Given the description of an element on the screen output the (x, y) to click on. 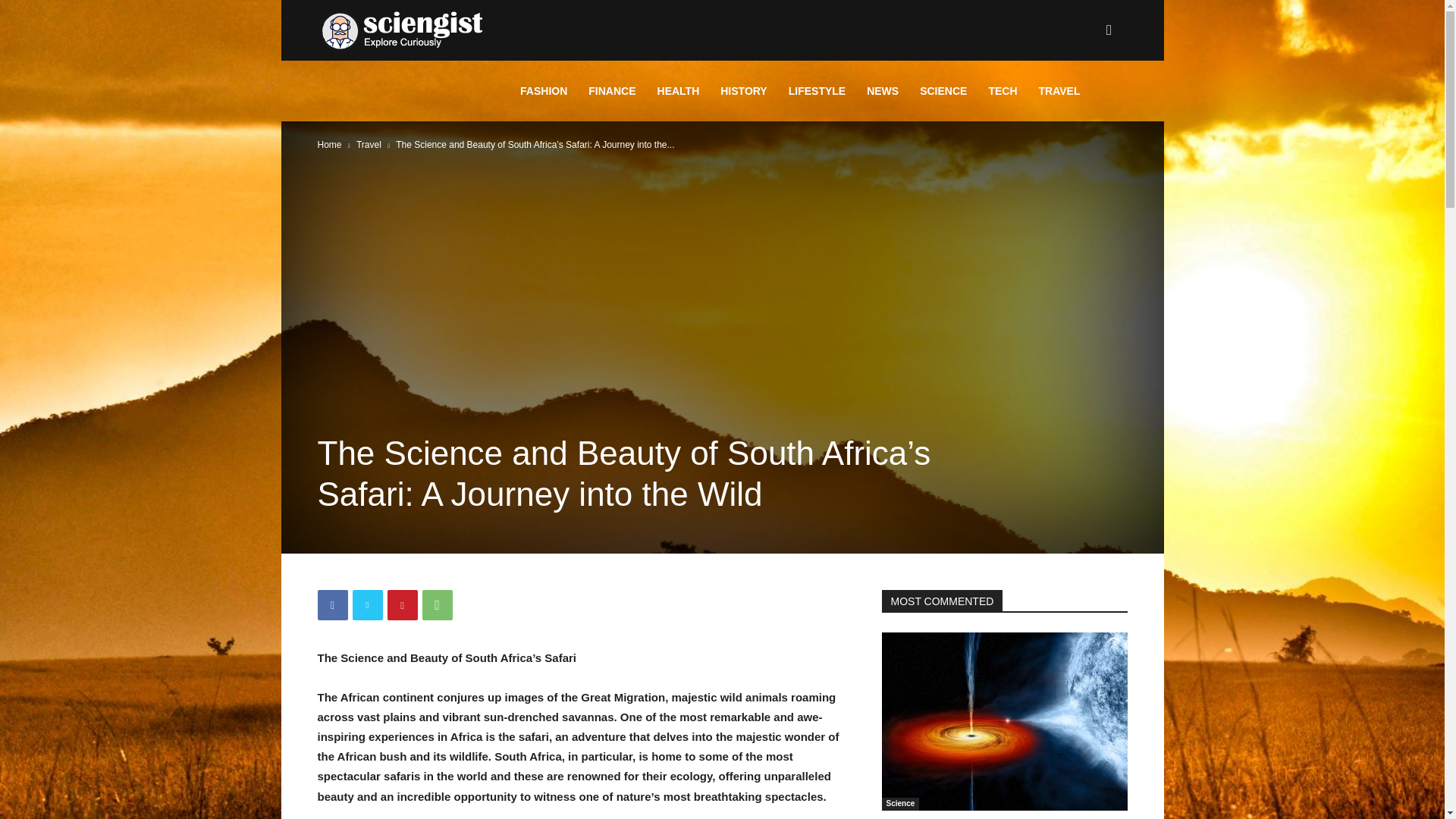
View all posts in Travel (368, 144)
Search (1085, 102)
Twitter (366, 604)
HISTORY (743, 90)
Pinterest (401, 604)
FASHION (543, 90)
LIFESTYLE (816, 90)
Home (328, 144)
WhatsApp (436, 604)
SCIENCE (942, 90)
HEALTH (678, 90)
Facebook (332, 604)
Sciengist (401, 30)
Travel (368, 144)
TRAVEL (1058, 90)
